Given the description of an element on the screen output the (x, y) to click on. 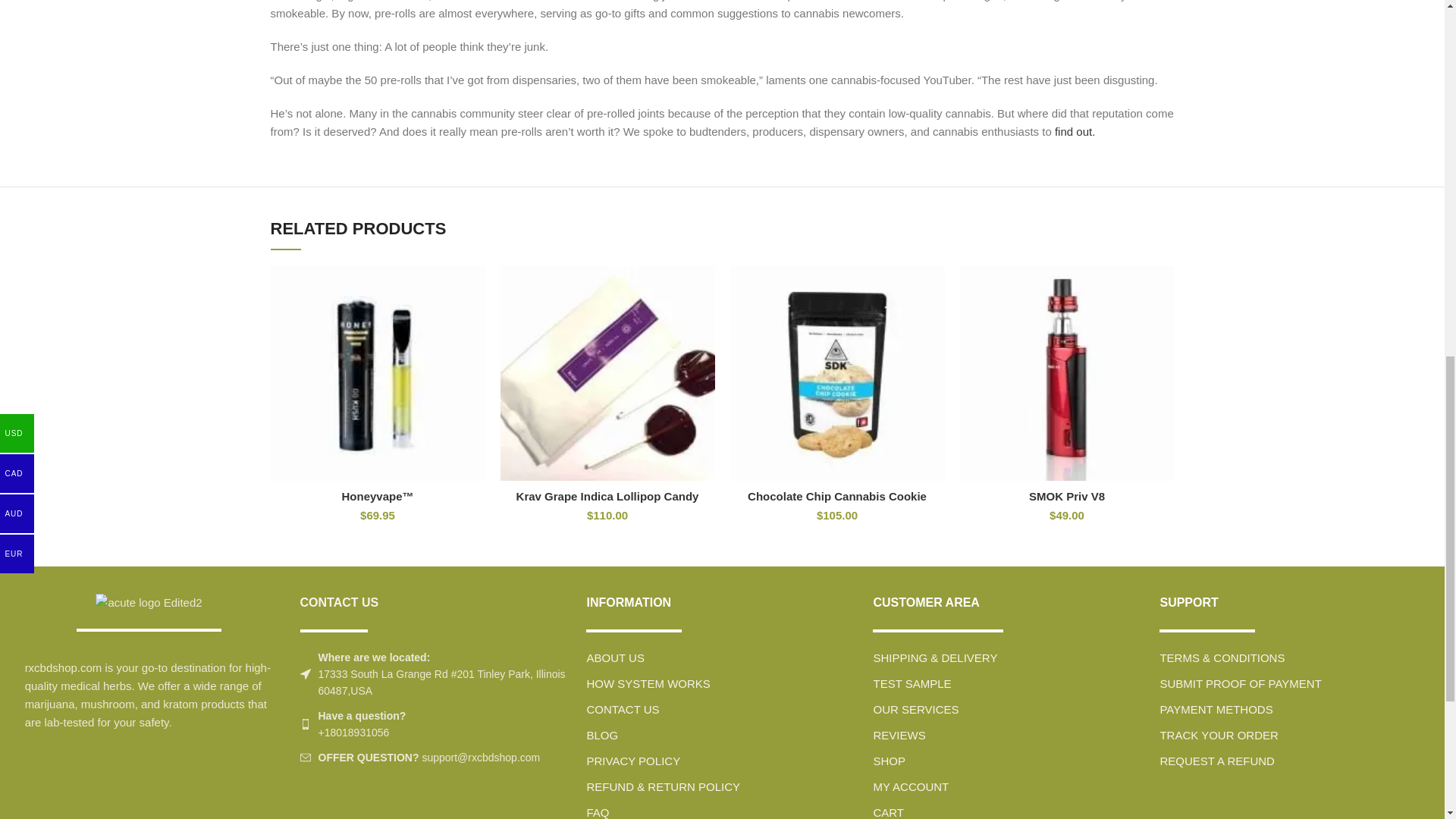
wd envelope light (305, 757)
wd phone light (305, 724)
acute logo Edited2 (149, 602)
wd cursor light (305, 674)
